Given the description of an element on the screen output the (x, y) to click on. 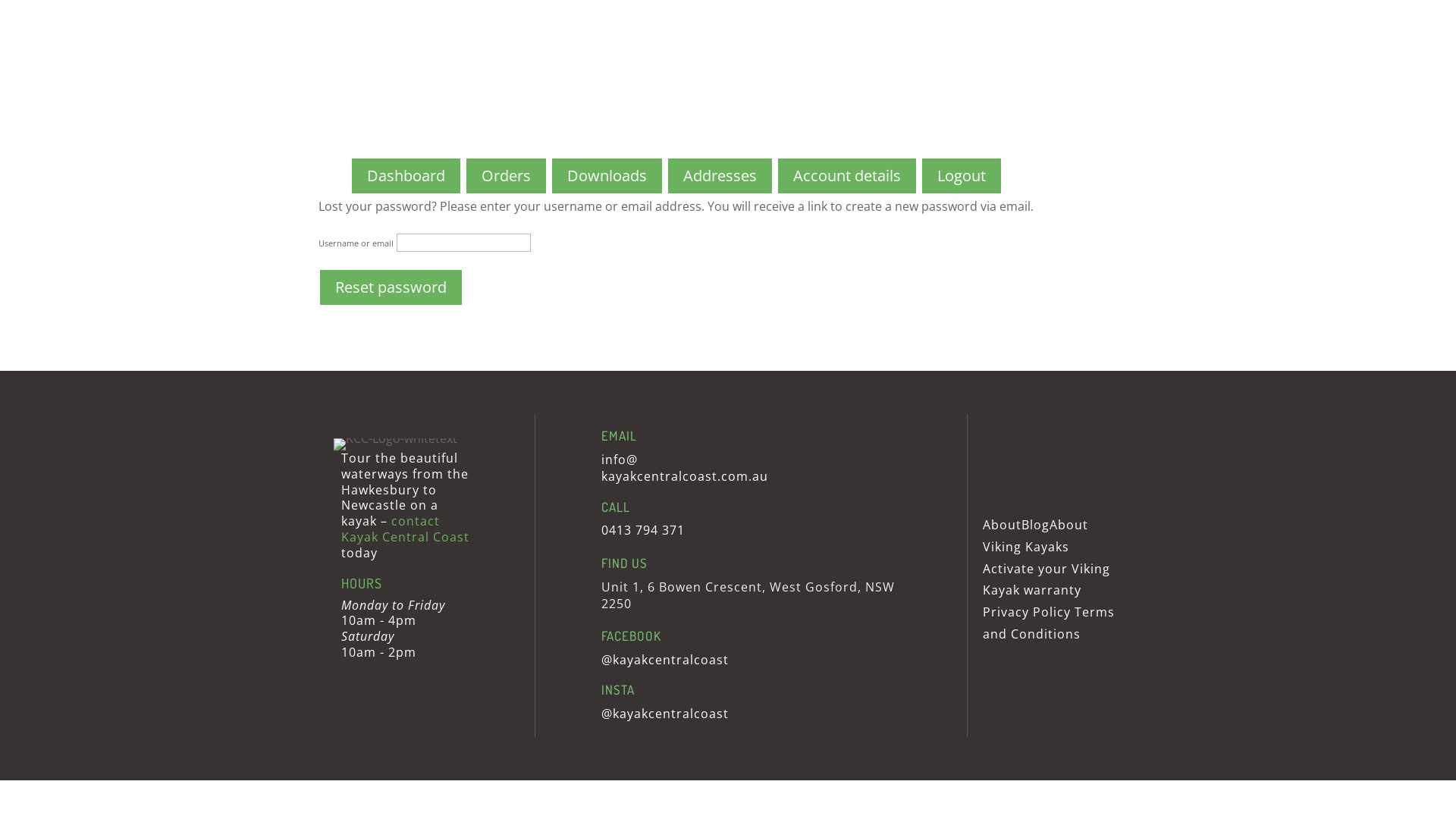
Orders Element type: text (505, 175)
@kayakcentralcoast Element type: text (664, 659)
INSTA Element type: text (617, 689)
Privacy Policy Element type: text (1026, 611)
Terms and Conditions Element type: text (1048, 622)
Dashboard Element type: text (405, 175)
Account details Element type: text (846, 175)
Addresses Element type: text (718, 175)
Activate your Viking Kayak warranty Element type: text (1046, 579)
Logout Element type: text (961, 175)
About Viking Kayaks Element type: text (1035, 535)
contact Kayak Central Coast Element type: text (405, 528)
Blog Element type: text (1035, 524)
info@
kayakcentralcoast.com.au Element type: text (684, 467)
FACEBOOK Element type: text (631, 635)
Downloads Element type: text (606, 175)
Reset password Element type: text (390, 287)
About Element type: text (1001, 524)
0413 794 371 Element type: text (642, 529)
@kayakcentralcoast Element type: text (664, 713)
